Given the description of an element on the screen output the (x, y) to click on. 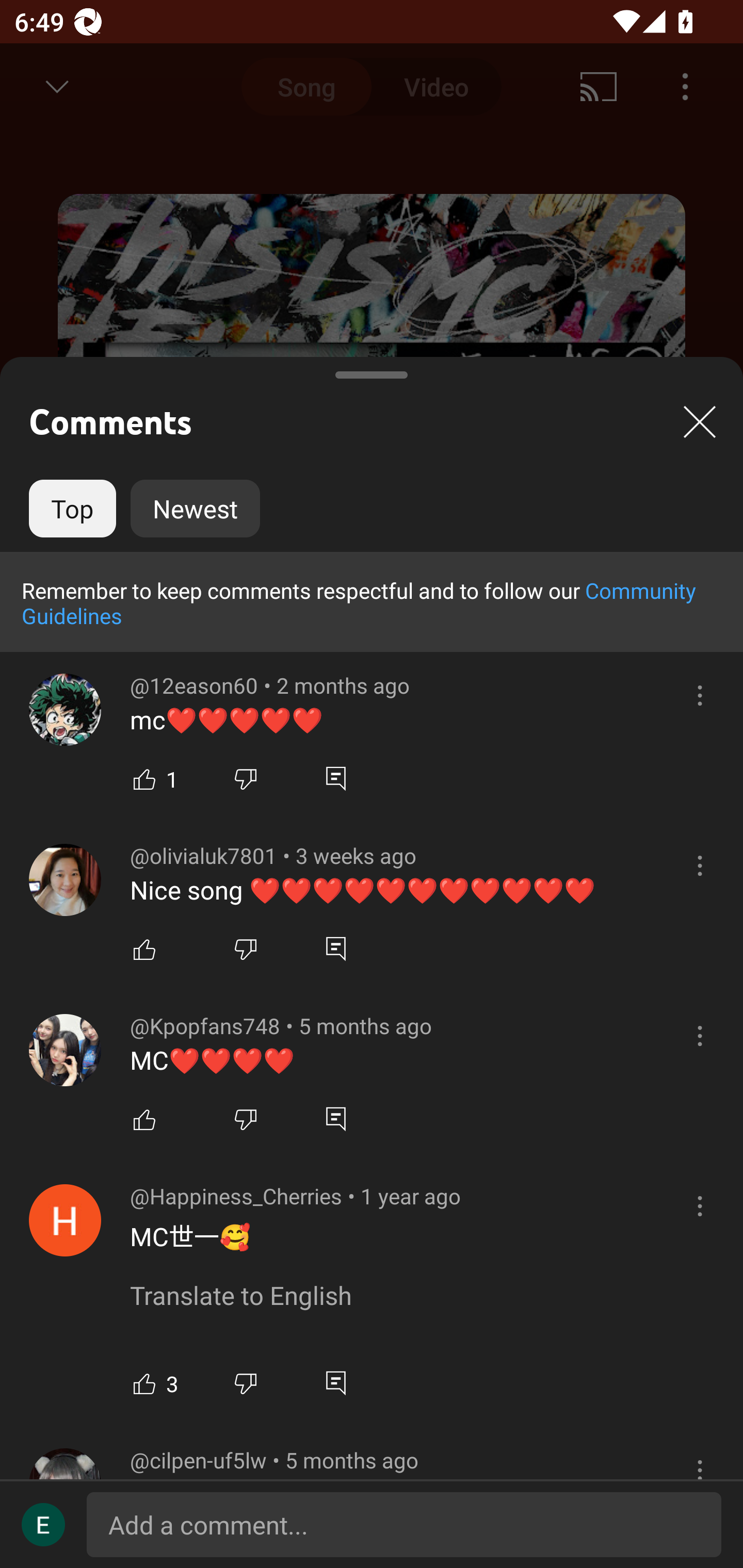
Drag handle (371, 367)
Close (699, 421)
Top (71, 508)
Newest (195, 508)
Action menu (699, 695)
@12eason60 (64, 710)
Like this comment along with 1 other person (144, 778)
Dislike this comment (245, 778)
Reply (335, 778)
Action menu (699, 865)
@olivialuk7801 (64, 879)
Like this comment along with 0 other people (144, 949)
Dislike this comment (245, 949)
Reply (335, 949)
Action menu (699, 1035)
@Kpopfans748 (64, 1050)
Like this comment along with 0 other people (144, 1118)
Dislike this comment (245, 1118)
Reply (335, 1118)
Action menu (699, 1205)
@Happiness_Cherries (64, 1219)
Like this comment along with 3 other people (144, 1383)
Dislike this comment (245, 1383)
Reply (335, 1383)
